Given the description of an element on the screen output the (x, y) to click on. 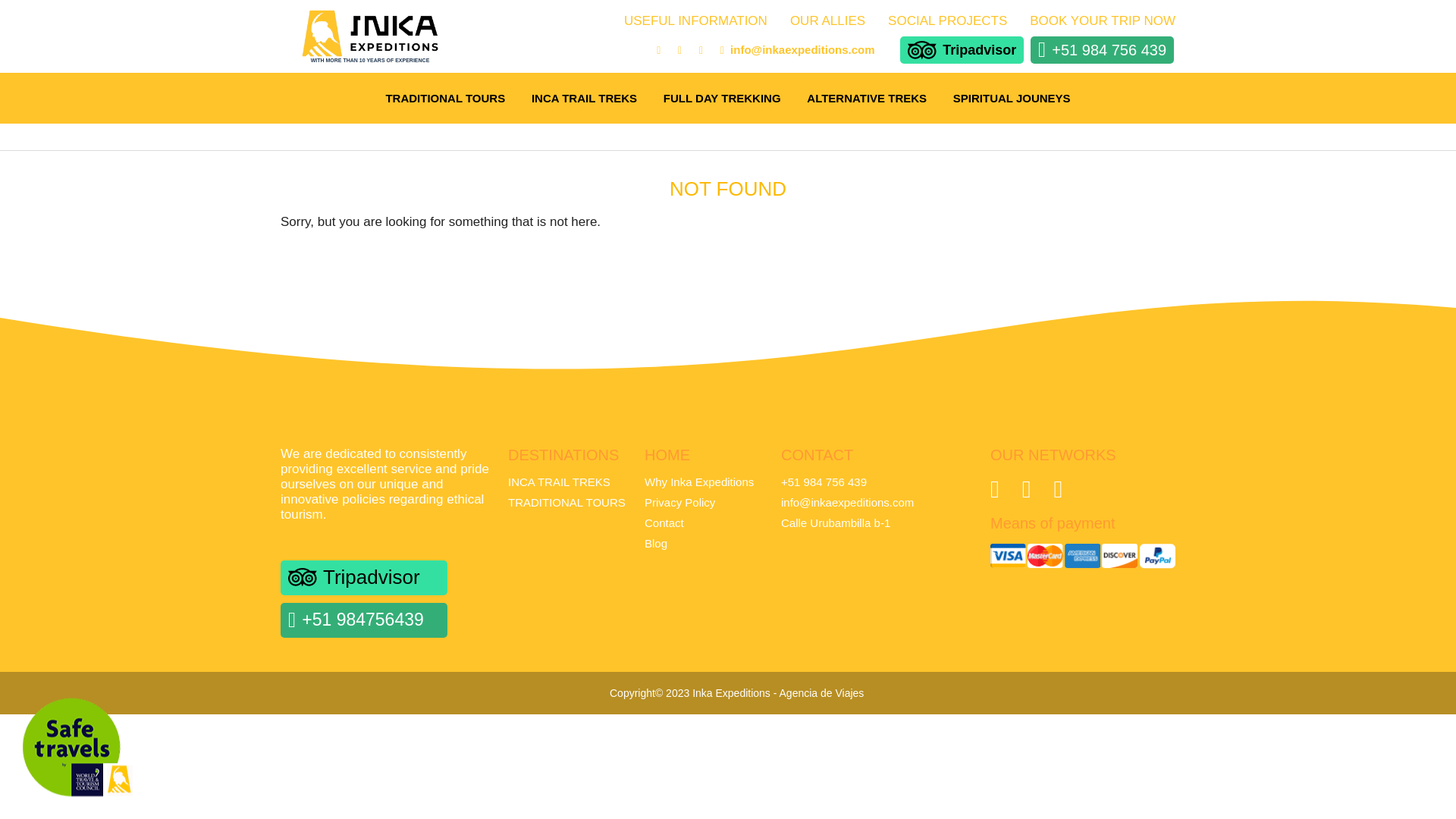
Privacy Policy (679, 502)
ALTERNATIVE TREKS (865, 98)
BOOK YOUR TRIP NOW (1101, 20)
SPIRITUAL JOUNEYS (1011, 98)
TRADITIONAL TOURS (567, 502)
Tripadvisor (961, 49)
INCA TRAIL TREKS (559, 481)
TRADITIONAL TOURS (445, 98)
INCA TRAIL TREKS (583, 98)
Why Inka Expeditions (699, 481)
USEFUL INFORMATION (695, 20)
Contact (664, 522)
SOCIAL PROJECTS (947, 20)
FULL DAY TREKKING (722, 98)
OUR ALLIES (827, 20)
